Given the description of an element on the screen output the (x, y) to click on. 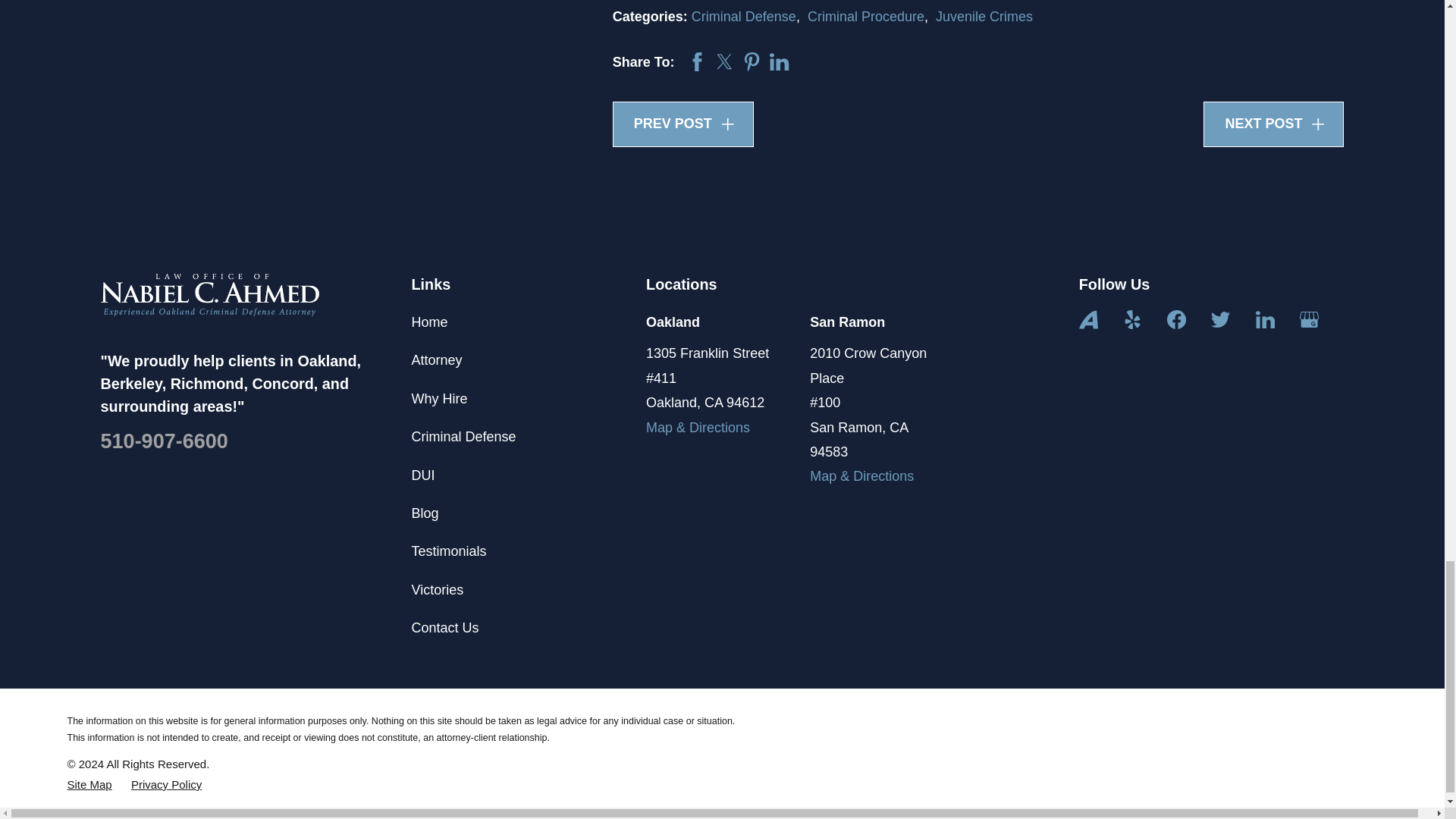
Avvo (1087, 319)
Home (209, 294)
